Given the description of an element on the screen output the (x, y) to click on. 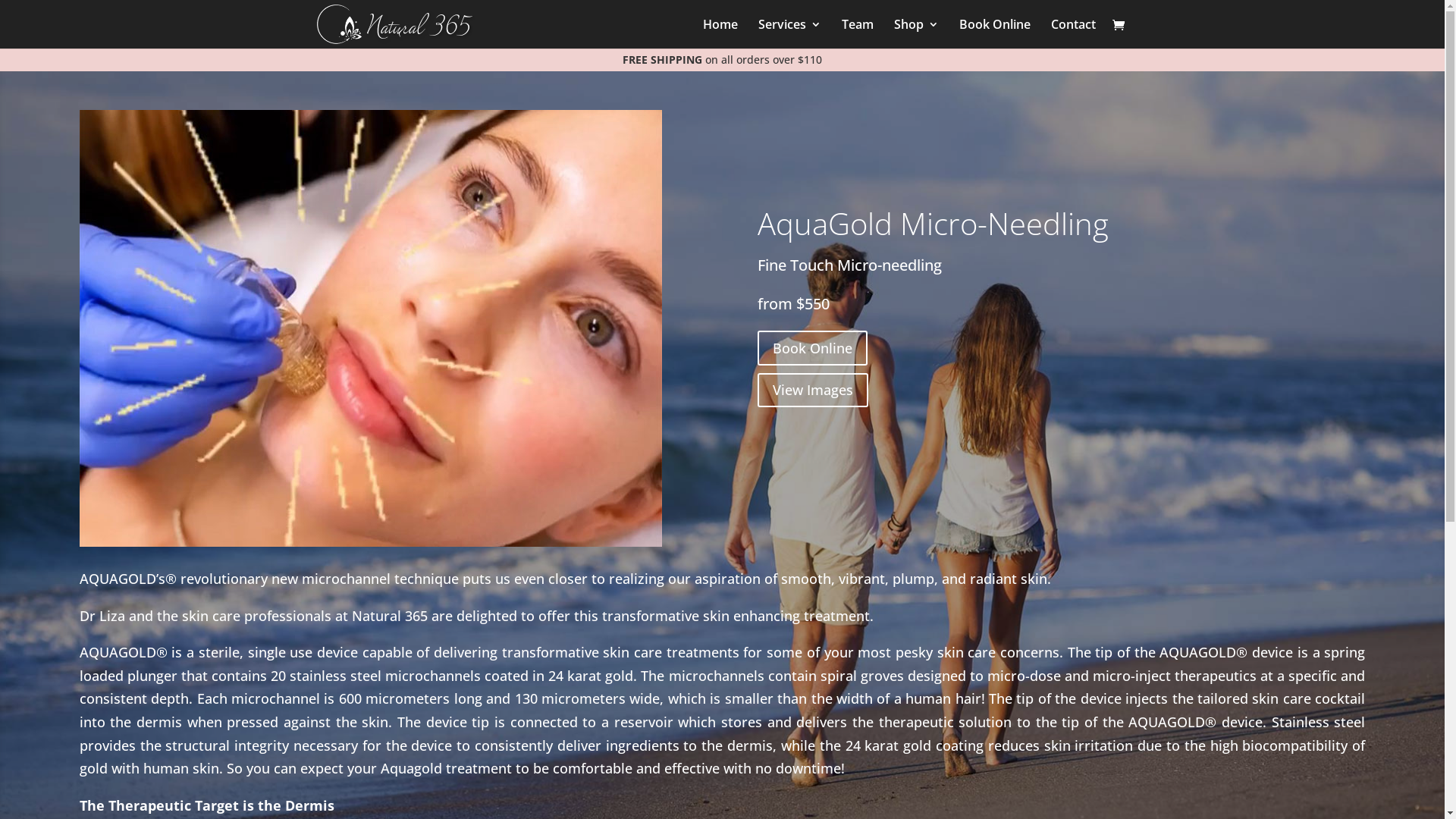
Contact Element type: text (1073, 33)
Shop Element type: text (915, 33)
AquaGold-Service-landscape Element type: hover (370, 327)
Home Element type: text (719, 33)
View Images Element type: text (812, 390)
Book Online Element type: text (993, 33)
Services Element type: text (789, 33)
Team Element type: text (857, 33)
Book Online Element type: text (812, 347)
Natural 365 Element type: text (721, 39)
